Given the description of an element on the screen output the (x, y) to click on. 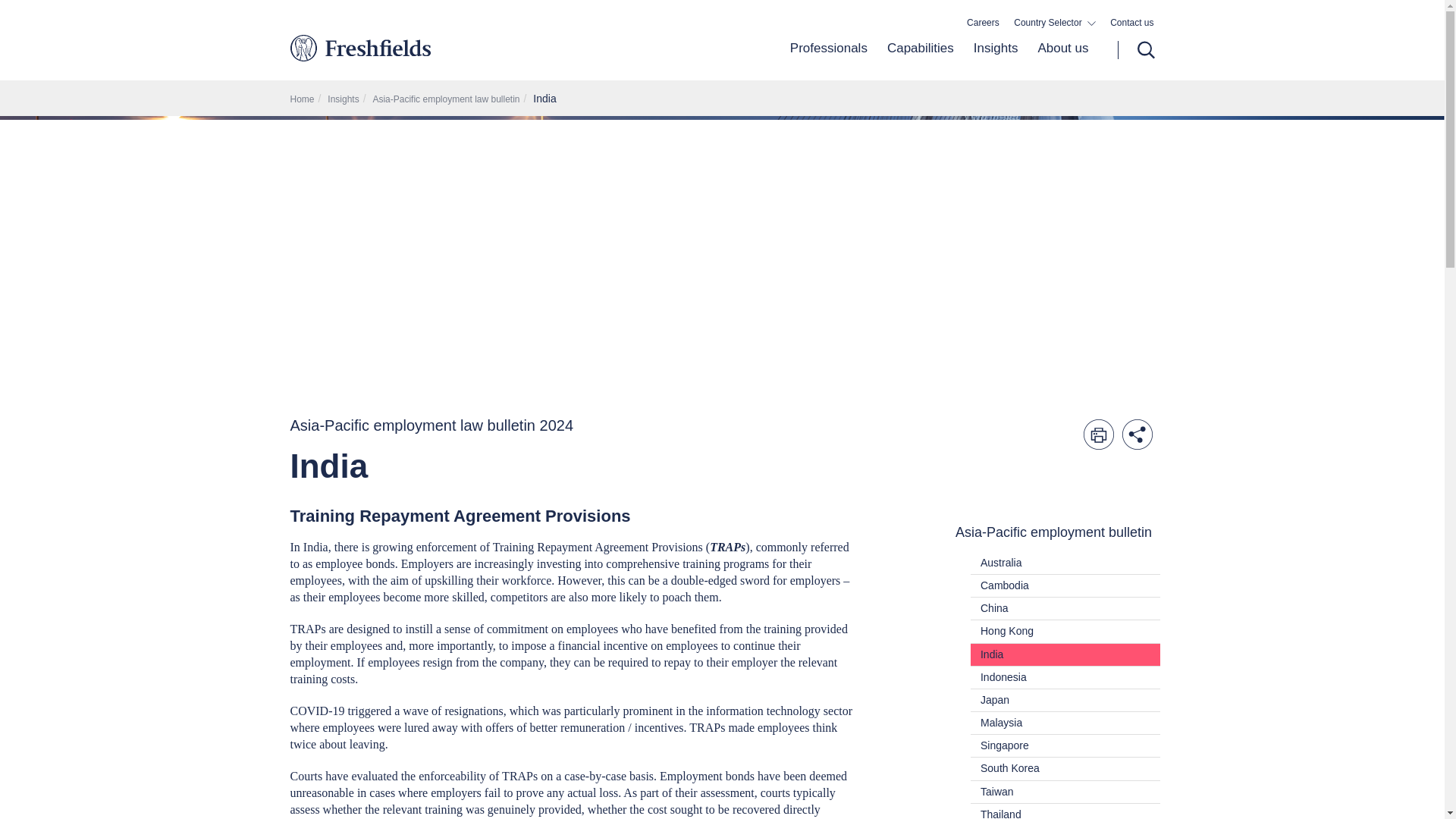
Careers (982, 22)
Professionals (828, 59)
Freshfields Bruckhaus Deringer (423, 46)
Contact us (1131, 22)
Insights (995, 59)
Country Selector (1053, 22)
Capabilities (920, 59)
Search (1136, 49)
Careers (982, 22)
About us (1057, 59)
